Given the description of an element on the screen output the (x, y) to click on. 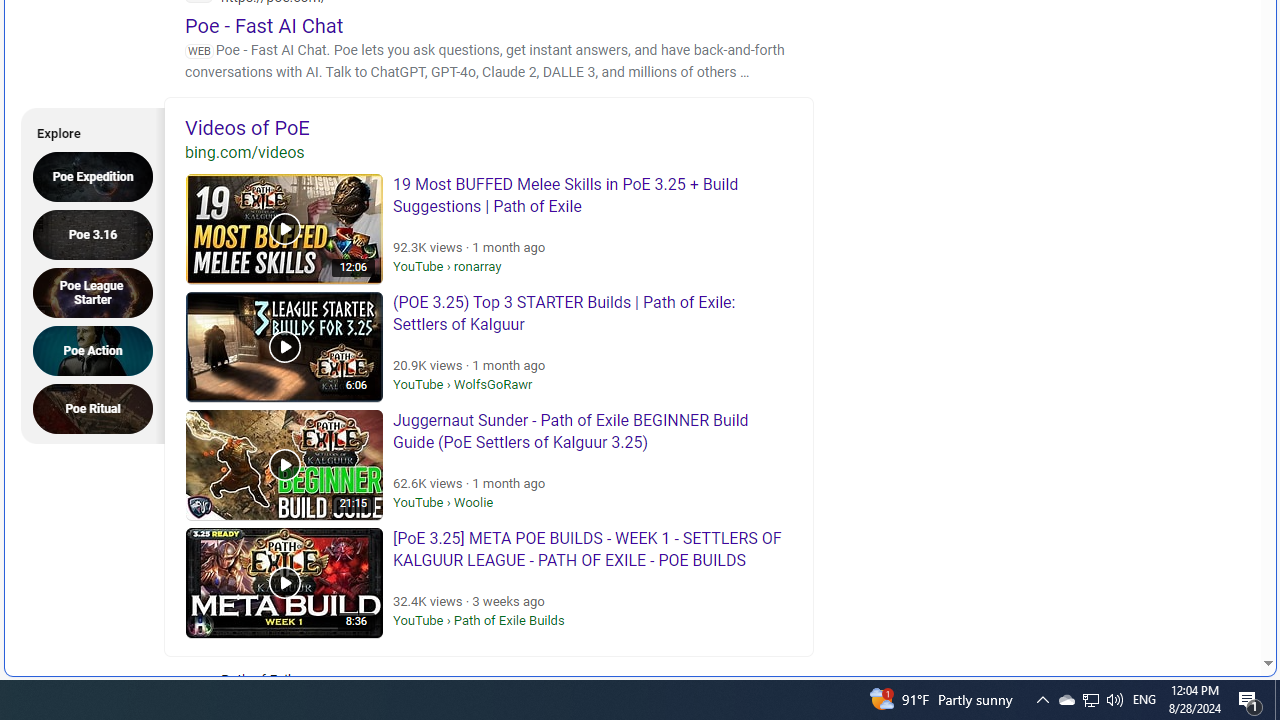
Videos of PoE (489, 127)
Poe Ritual (99, 408)
Explore (86, 130)
AutomationID: mfa_root (1192, 603)
Poe Action (99, 349)
Search more (1222, 604)
Poe - Fast AI Chat (264, 25)
Poe 3.16 (99, 233)
Poe Expedition (99, 176)
